Given the description of an element on the screen output the (x, y) to click on. 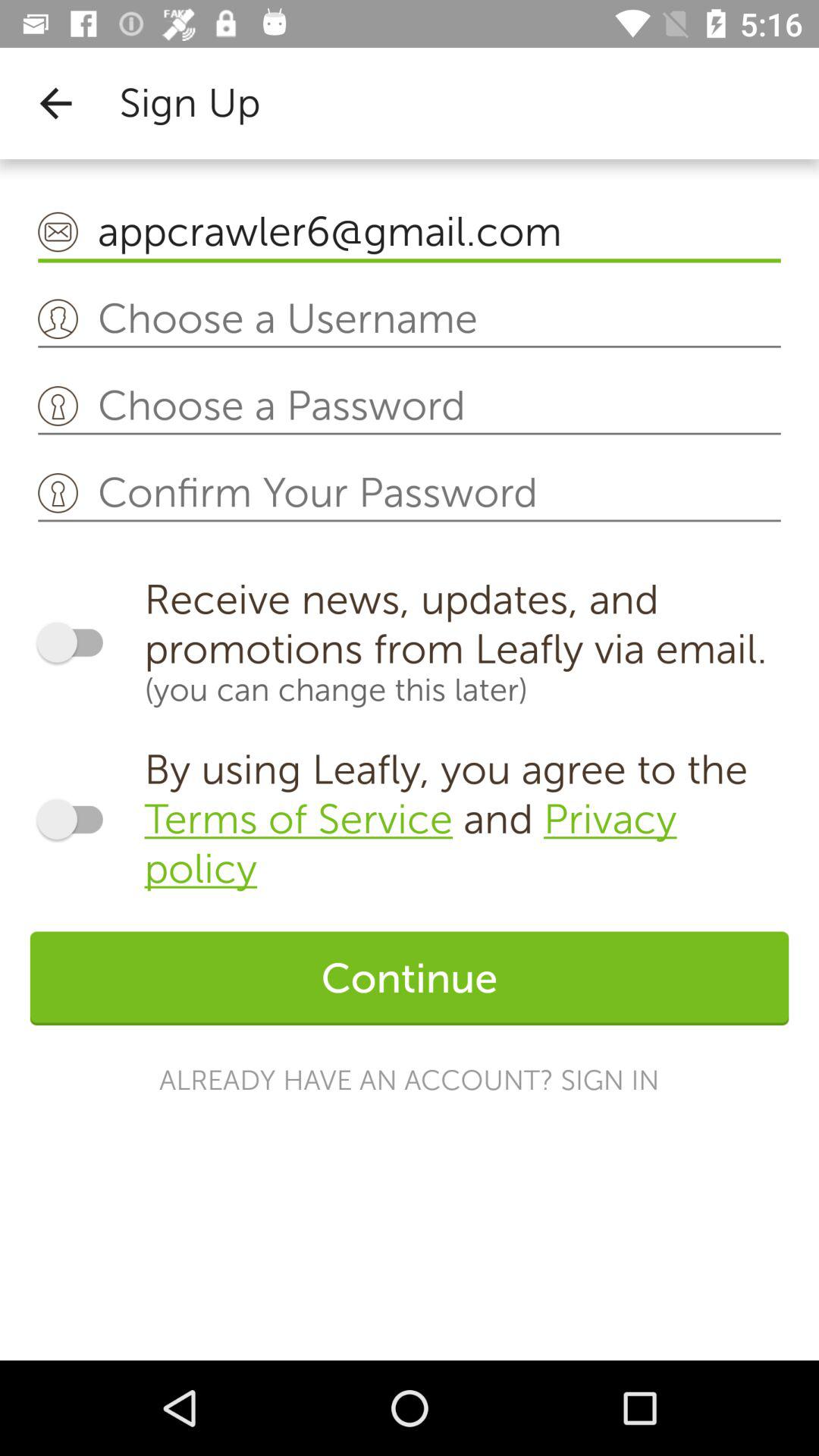
choose a password (409, 406)
